Given the description of an element on the screen output the (x, y) to click on. 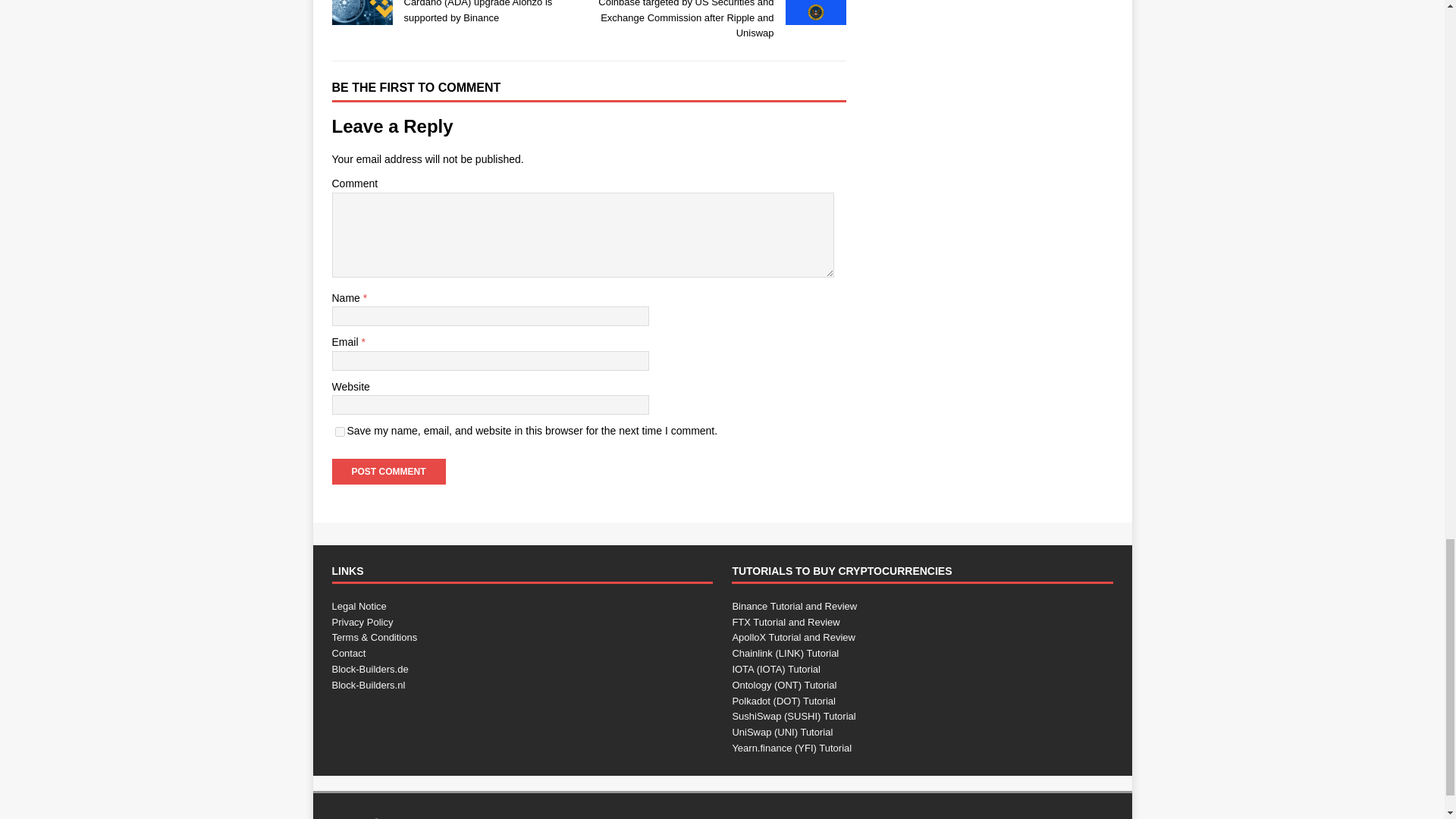
yes (339, 431)
Post Comment (388, 471)
